Given the description of an element on the screen output the (x, y) to click on. 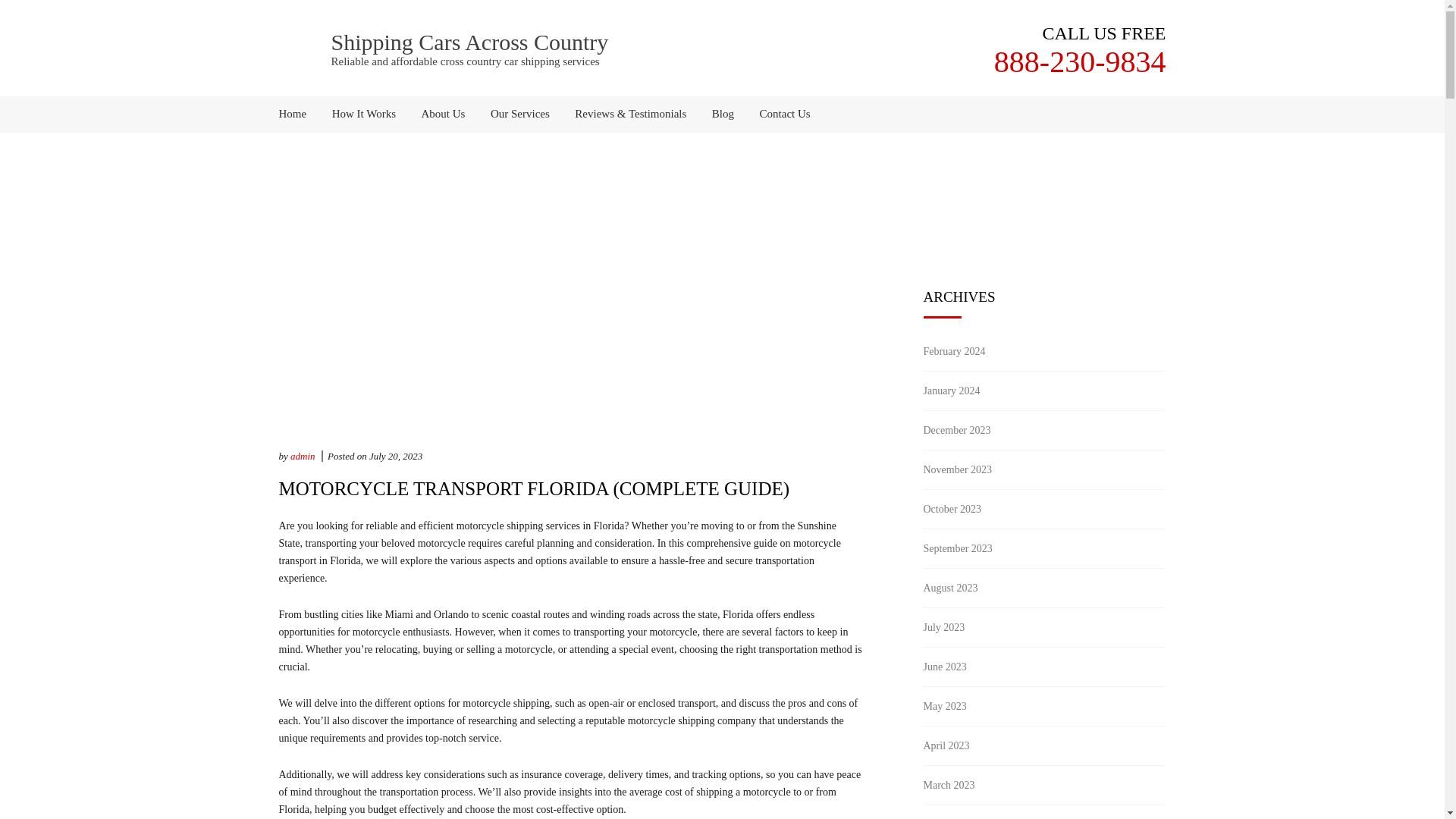
How It Works (363, 114)
888-230-9834 (1080, 61)
Posts by admin (302, 455)
About Us (443, 114)
Shipping Cars Across Country (469, 42)
admin (302, 455)
Our Services (519, 114)
Blog (722, 114)
Contact Us (779, 114)
Home (298, 114)
